Given the description of an element on the screen output the (x, y) to click on. 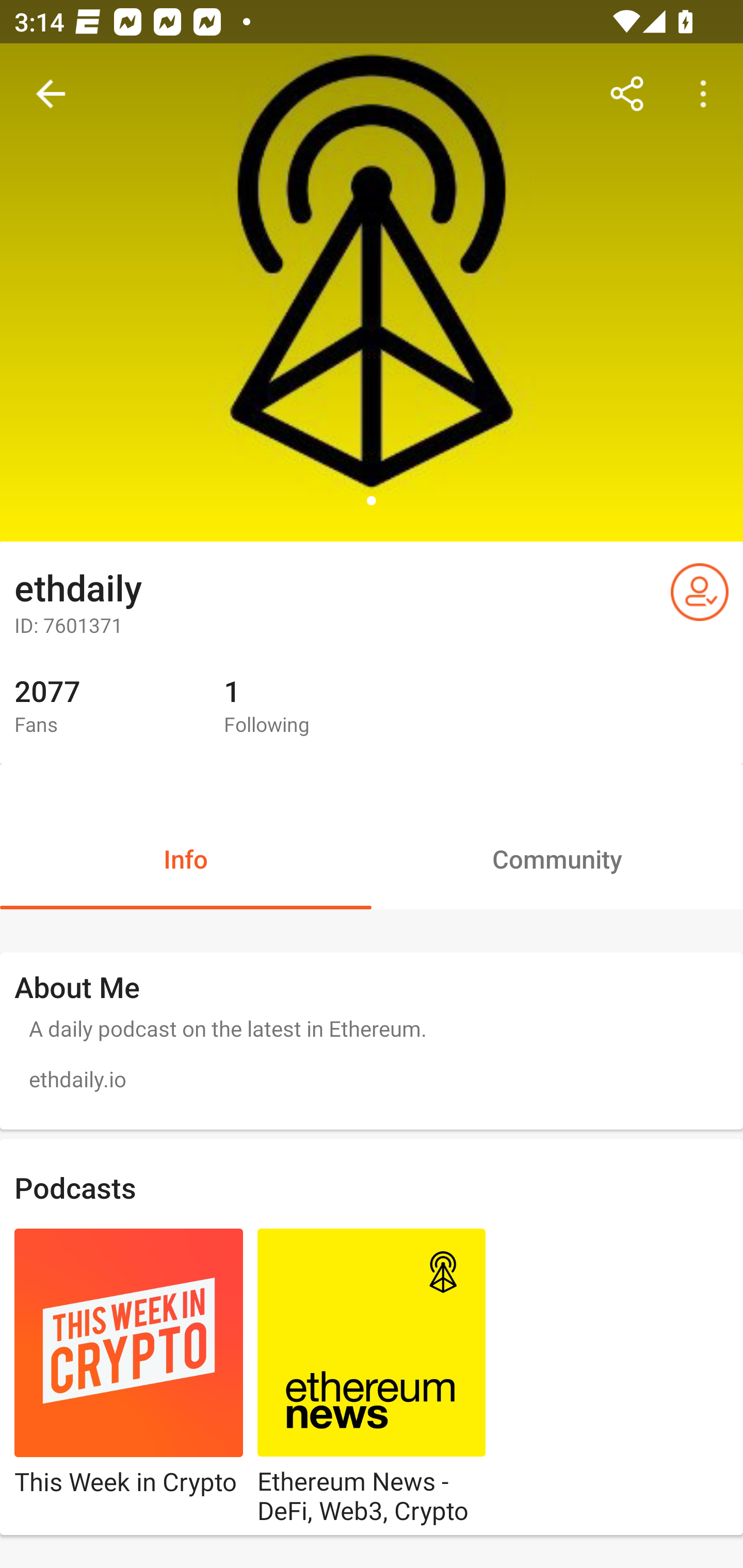
Navigate up (50, 93)
Share (626, 93)
More options (706, 93)
2077 Fans (104, 707)
1 Following (313, 707)
Info (185, 858)
Community (557, 858)
This Week in Crypto (128, 1378)
Ethereum News - DeFi, Web3, Crypto (371, 1378)
